Given the description of an element on the screen output the (x, y) to click on. 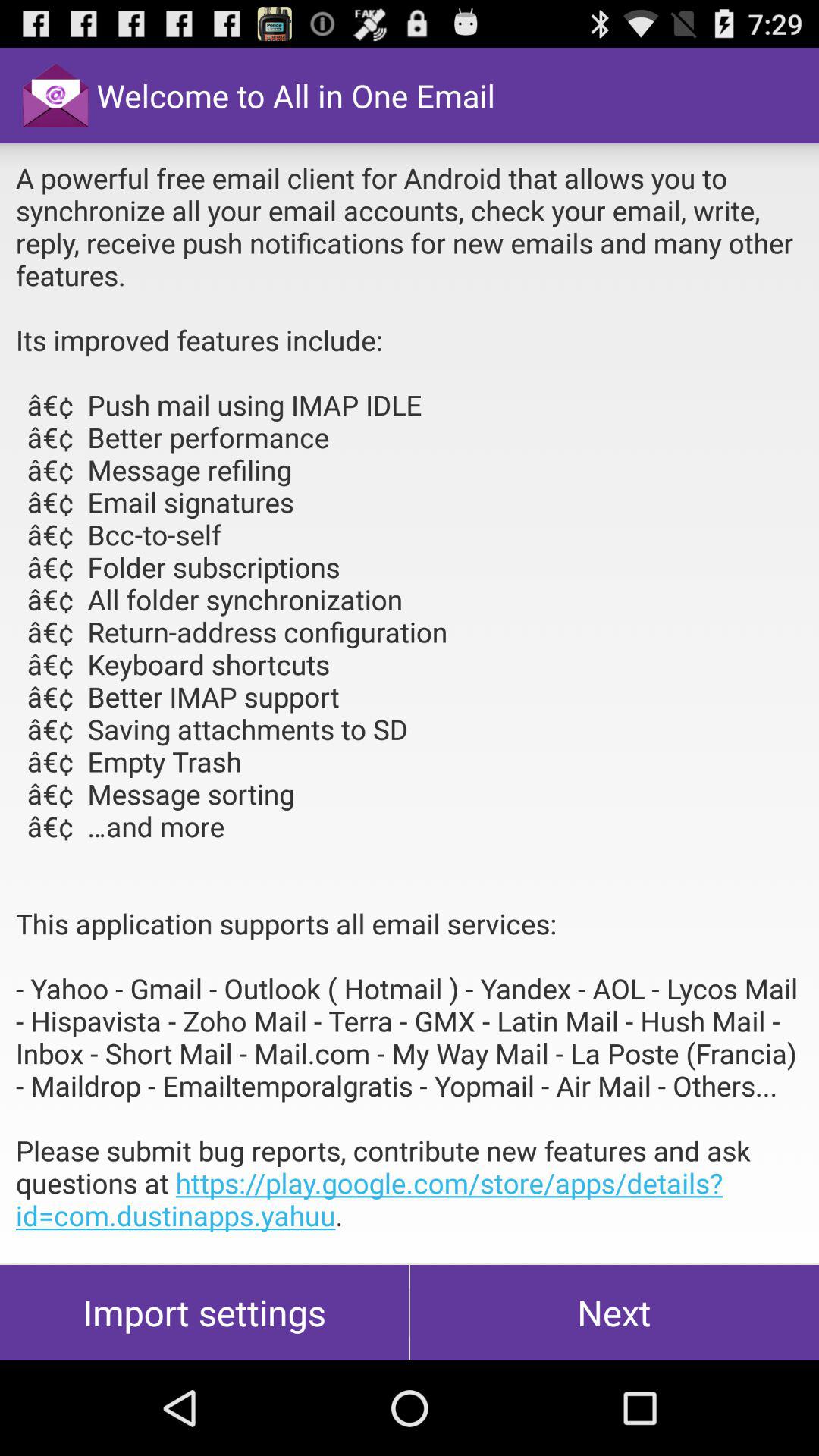
turn on button to the left of the next item (204, 1312)
